Given the description of an element on the screen output the (x, y) to click on. 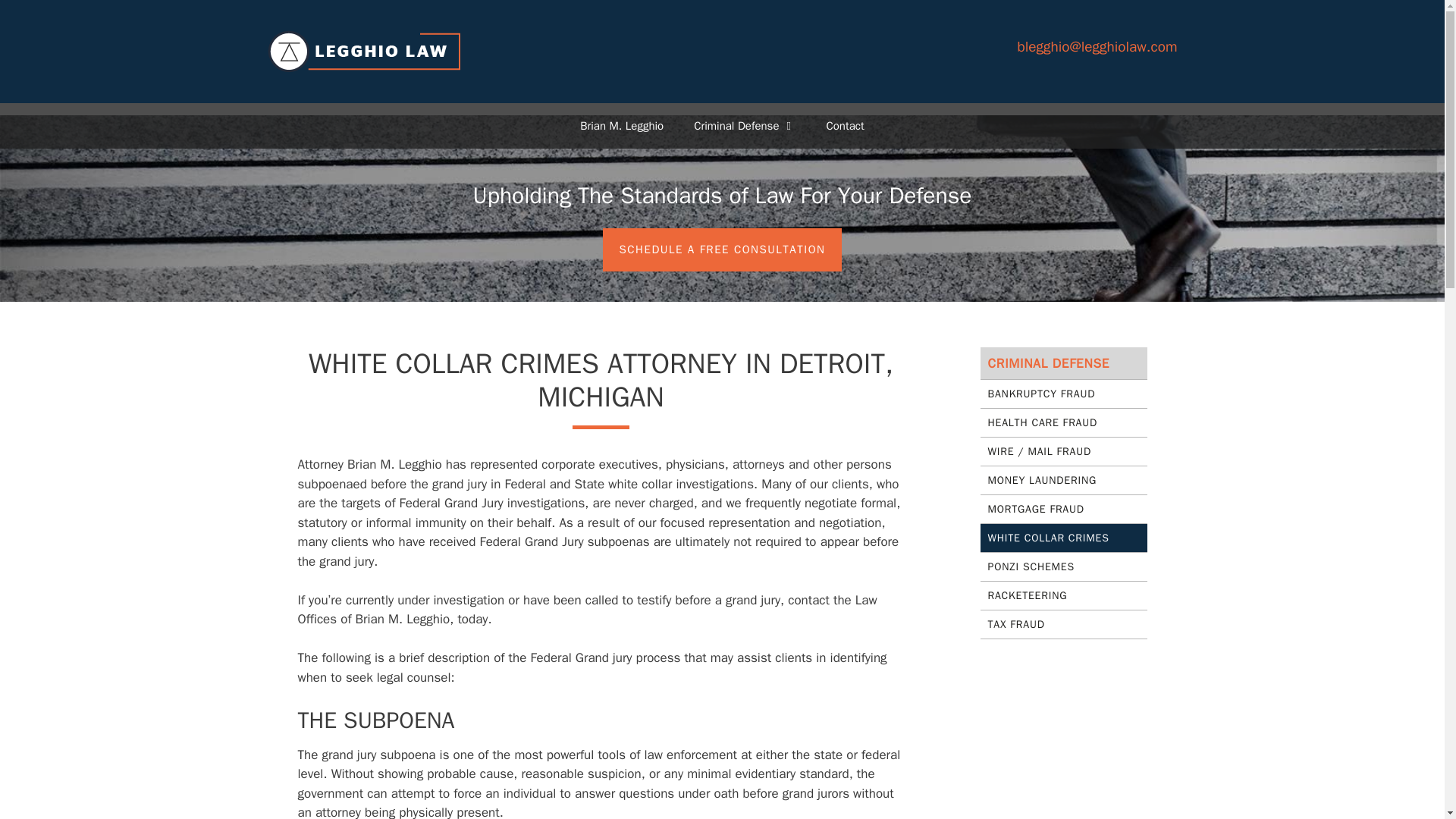
Contact (844, 125)
Criminal Defense (744, 125)
BANKRUPTCY FRAUD (1063, 394)
HEALTH CARE FRAUD (1063, 422)
MONEY LAUNDERING (1063, 480)
CRIMINAL DEFENSE (1063, 363)
PONZI SCHEMES (1063, 566)
TAX FRAUD (1063, 624)
WHITE COLLAR CRIMES (1063, 538)
